Given the description of an element on the screen output the (x, y) to click on. 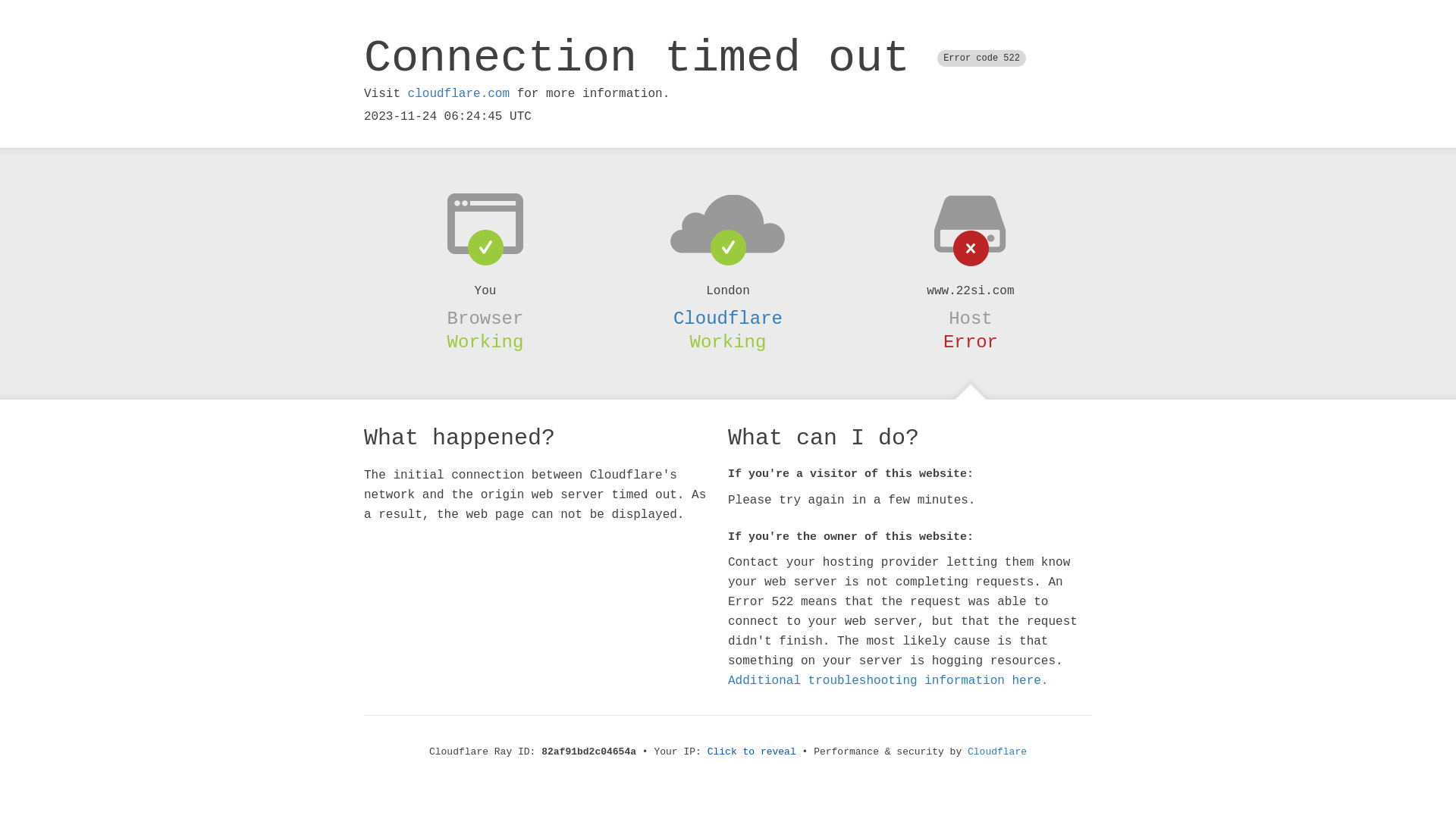
Cloudflare Element type: text (727, 318)
Cloudflare Element type: text (996, 751)
Additional troubleshooting information here. Element type: text (888, 680)
Click to reveal Element type: text (751, 751)
cloudflare.com Element type: text (458, 93)
